Given the description of an element on the screen output the (x, y) to click on. 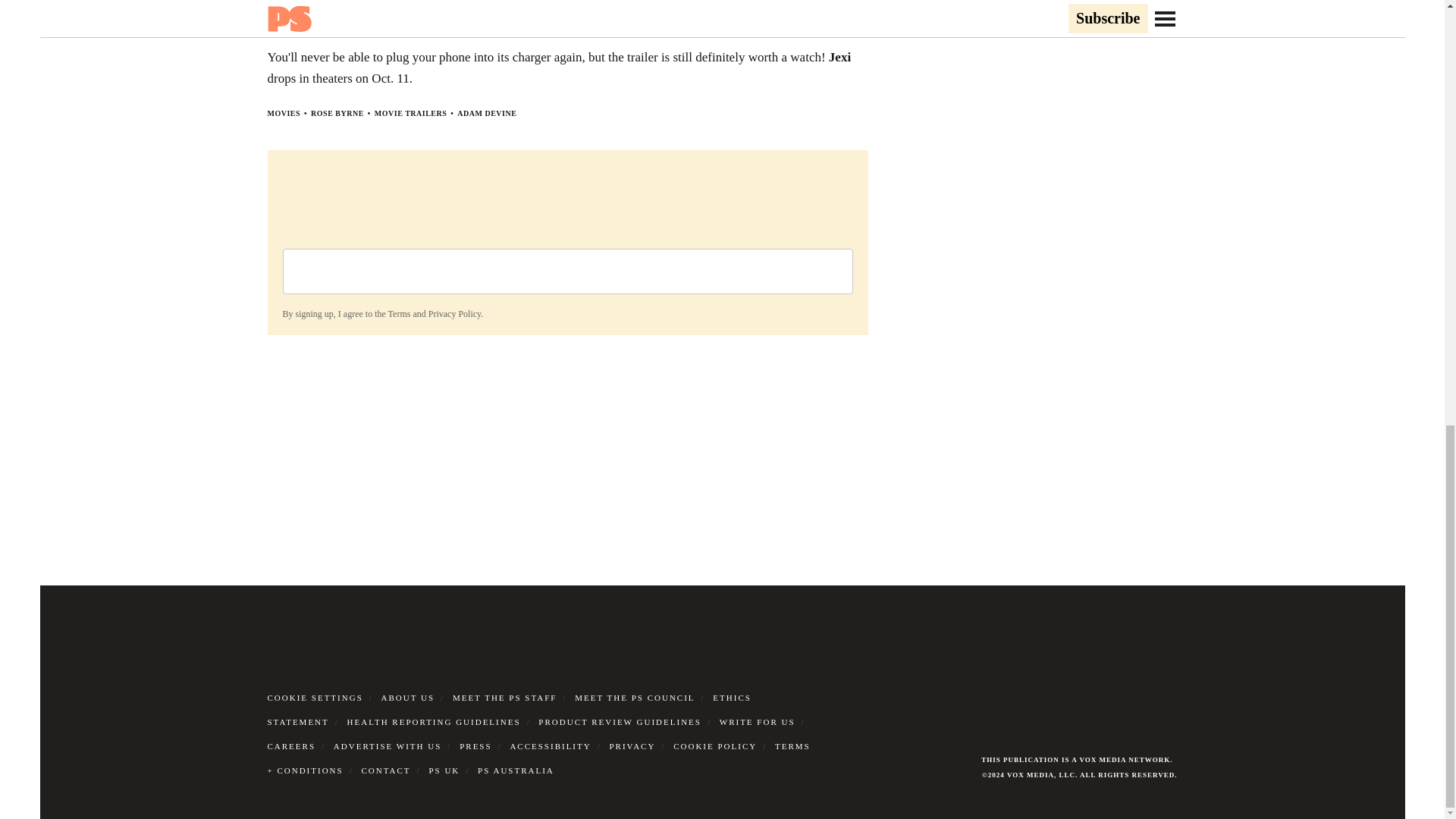
WRITE FOR US (756, 720)
ROSE BYRNE (337, 112)
ETHICS STATEMENT (508, 709)
COOKIE POLICY (714, 745)
CAREERS (290, 745)
MOVIES (282, 112)
PRIVACY (633, 745)
ABOUT US (408, 696)
ADAM DEVINE (486, 112)
a Smart House-esque turn for the worst (472, 20)
